Given the description of an element on the screen output the (x, y) to click on. 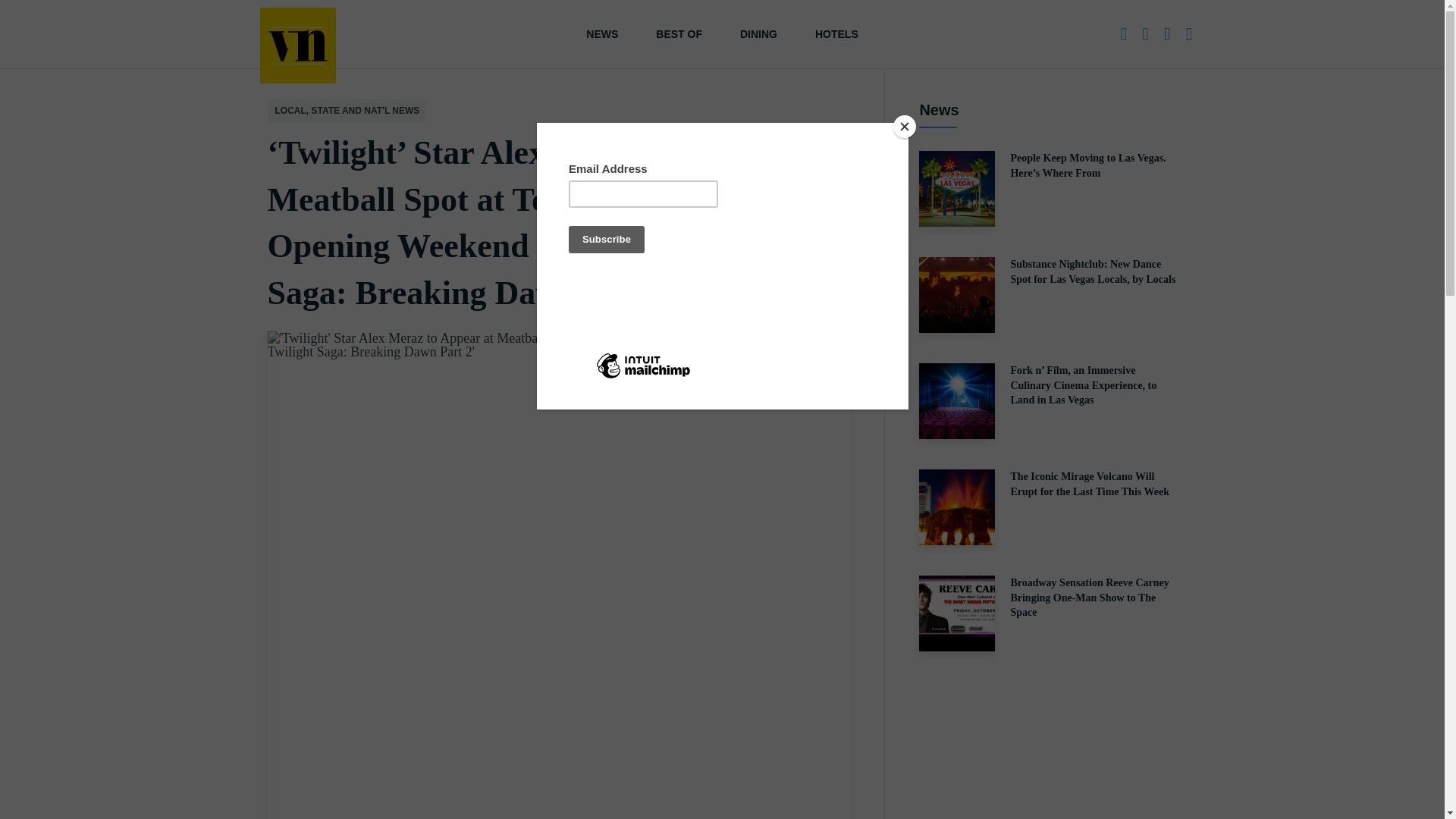
DINING (758, 33)
NEWS (601, 33)
HOTELS (837, 33)
BEST OF (678, 33)
LOCAL, STATE AND NAT'L NEWS (346, 110)
